Given the description of an element on the screen output the (x, y) to click on. 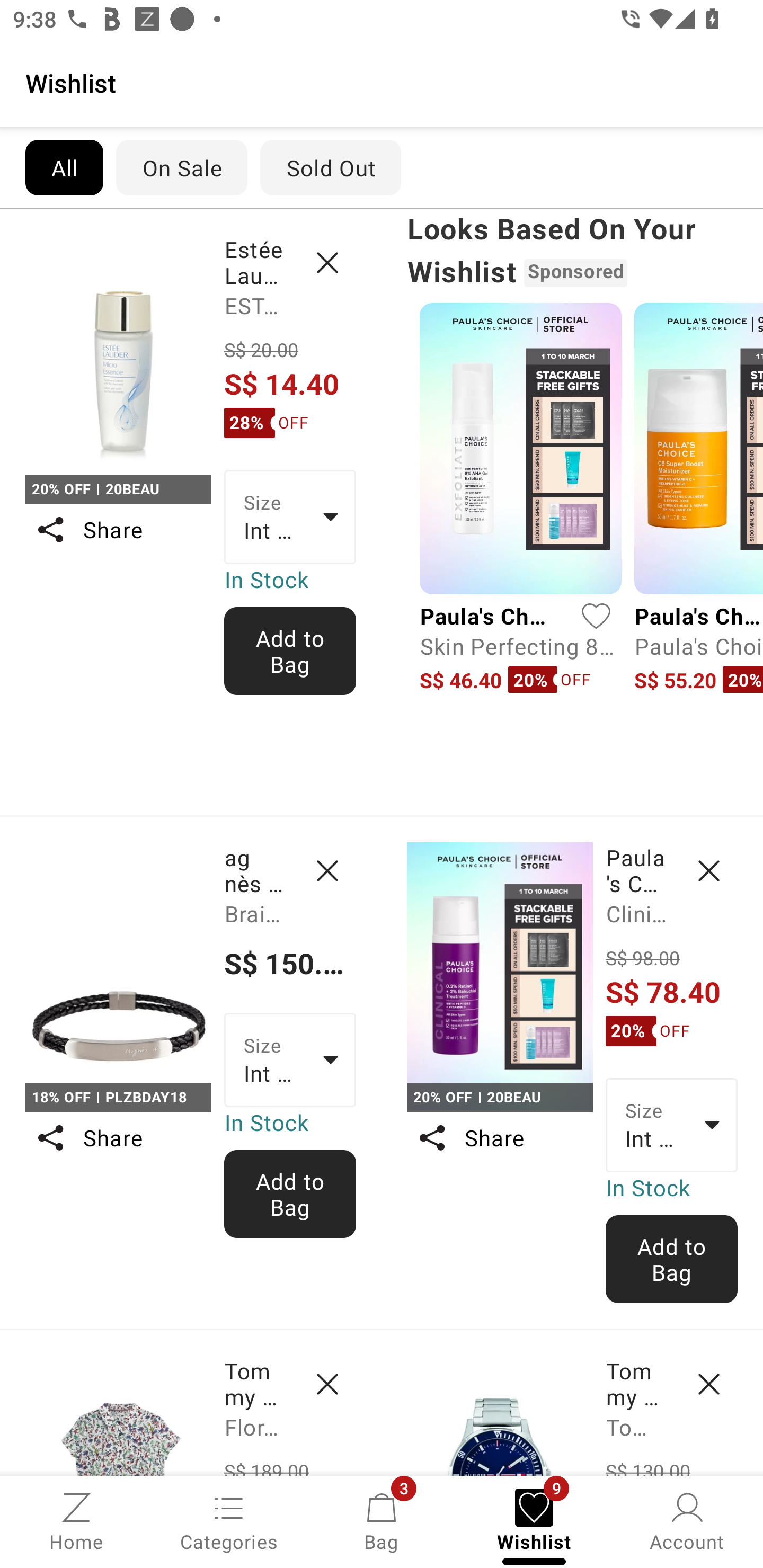
Wishlist (381, 82)
All (64, 167)
On Sale (181, 167)
Sold Out (330, 167)
Size Int One Size (290, 517)
Share (118, 529)
Add to Bag (290, 650)
Size Int One Size (290, 1059)
Size Int 30 ml (671, 1125)
Share (118, 1137)
Share (499, 1137)
Add to Bag (290, 1193)
Add to Bag (671, 1259)
Home (76, 1519)
Categories (228, 1519)
Bag, 3 new notifications Bag (381, 1519)
Account (686, 1519)
